Given the description of an element on the screen output the (x, y) to click on. 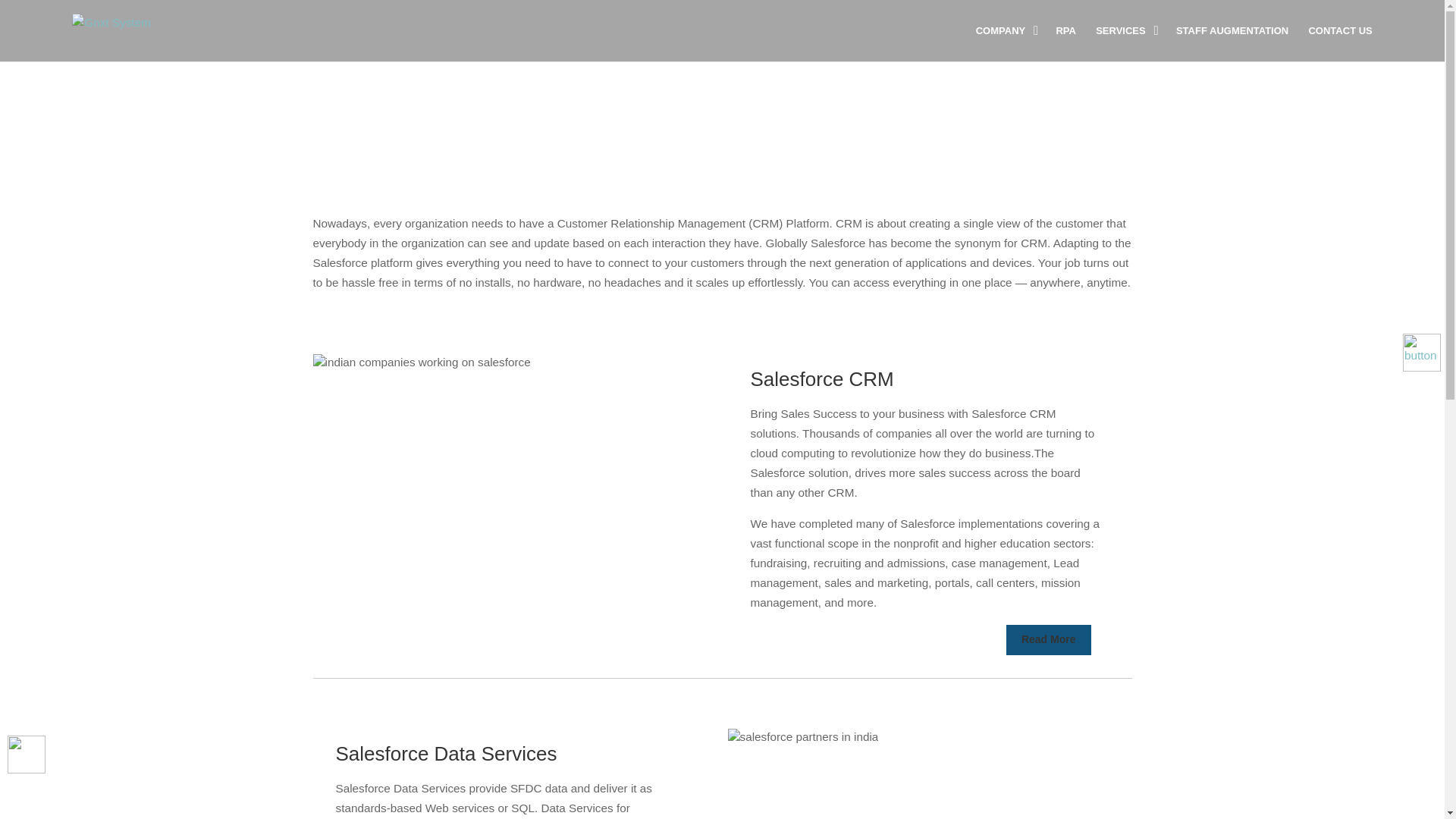
Read More (1048, 639)
CONTACT US (1339, 41)
STAFF AUGMENTATION (1232, 41)
COMPANY (1005, 41)
SERVICES (1126, 41)
